Given the description of an element on the screen output the (x, y) to click on. 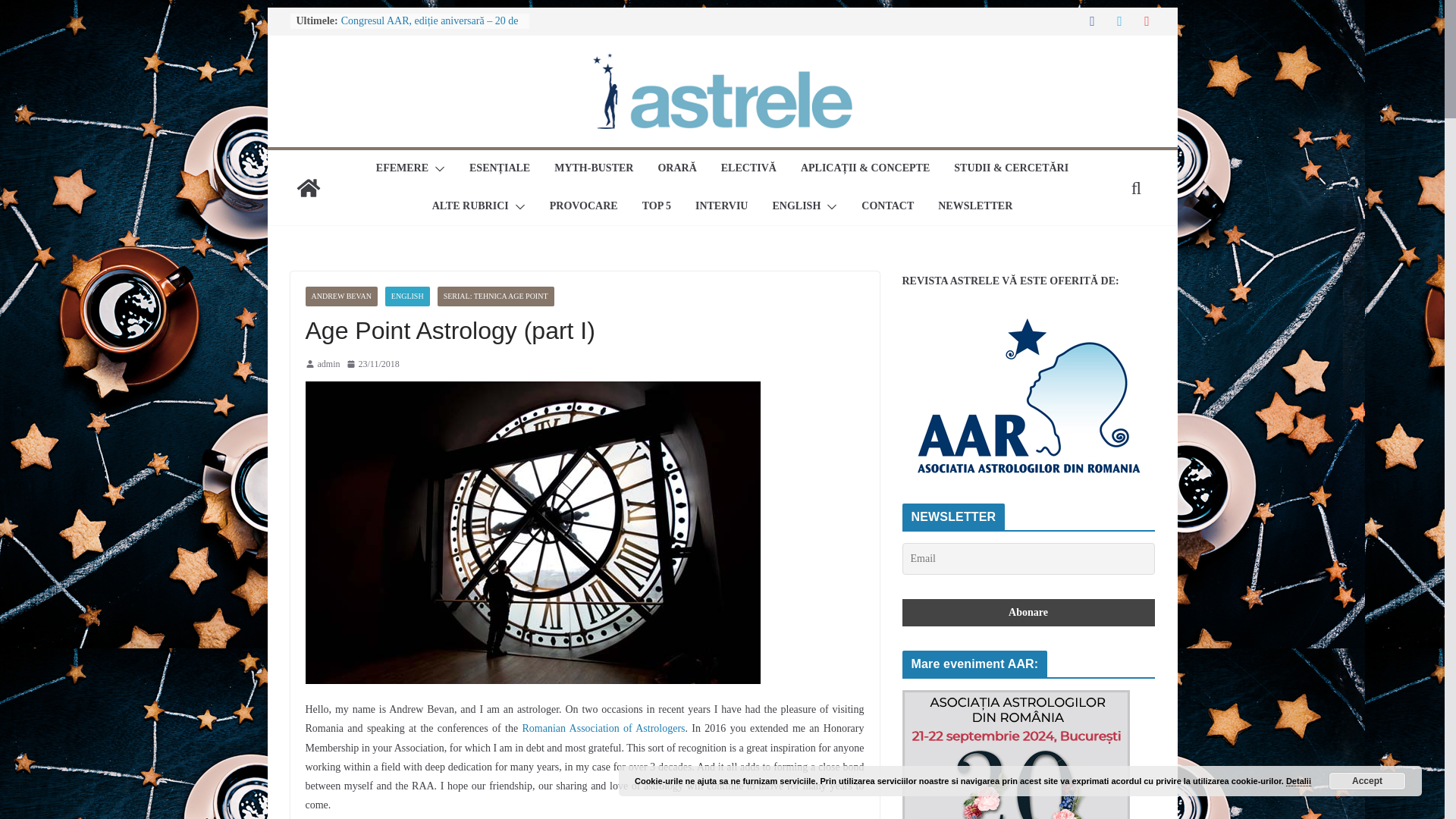
11:27 (372, 364)
EFEMERE (401, 169)
Astrele (307, 187)
admin (328, 364)
INTERVIU (721, 206)
ENGLISH (796, 206)
Abonare (1028, 612)
PROVOCARE (583, 206)
CONTACT (887, 206)
